Given the description of an element on the screen output the (x, y) to click on. 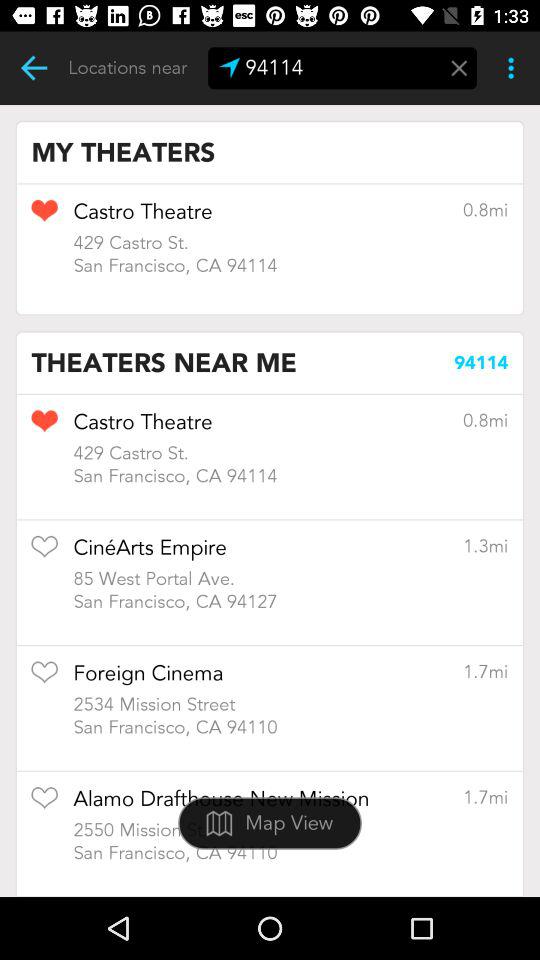
add to favorites (44, 553)
